Given the description of an element on the screen output the (x, y) to click on. 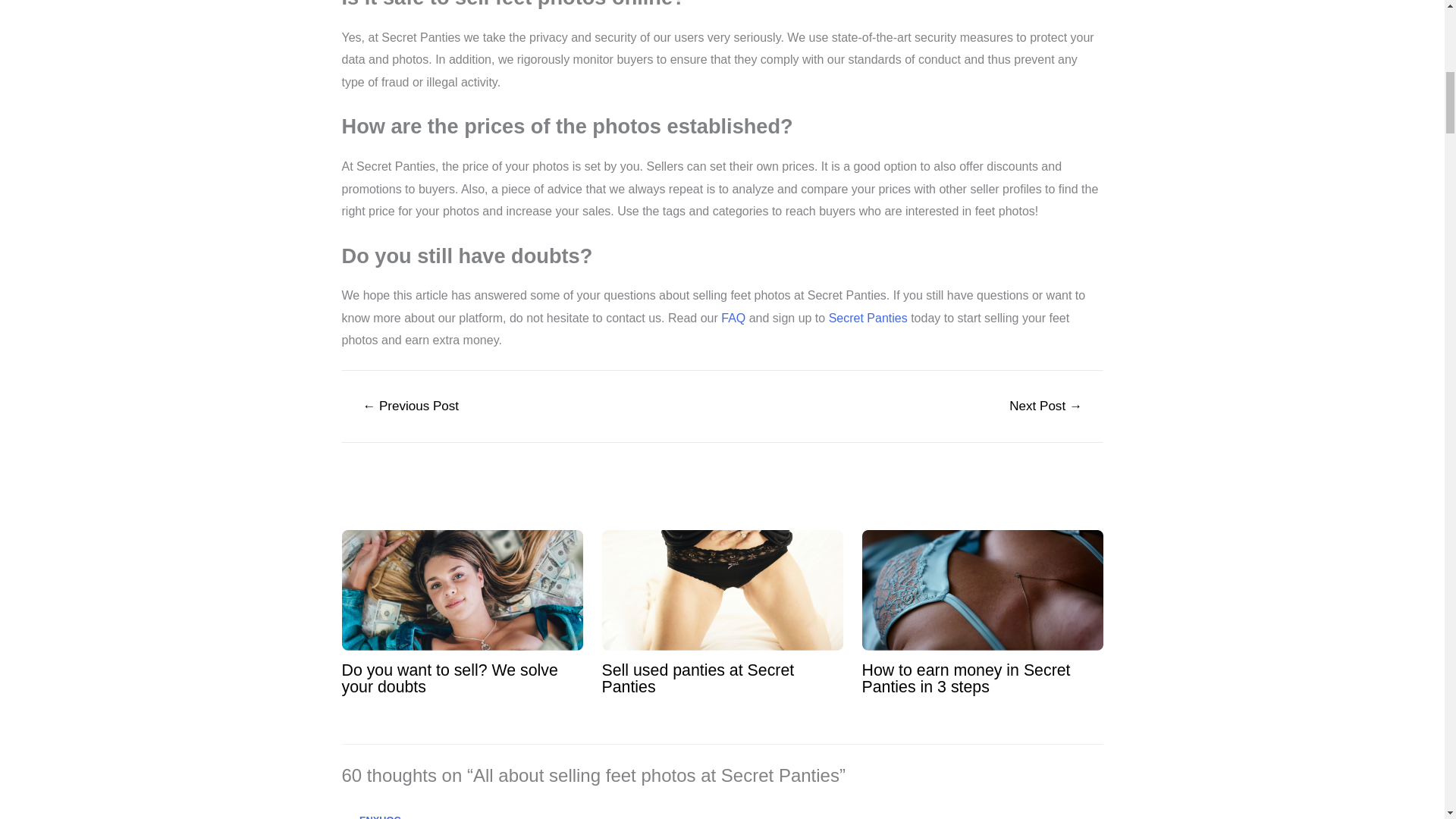
FAQ  (734, 318)
Do you want to sell? We solve your doubts (448, 677)
Secret Panties (867, 318)
